Given the description of an element on the screen output the (x, y) to click on. 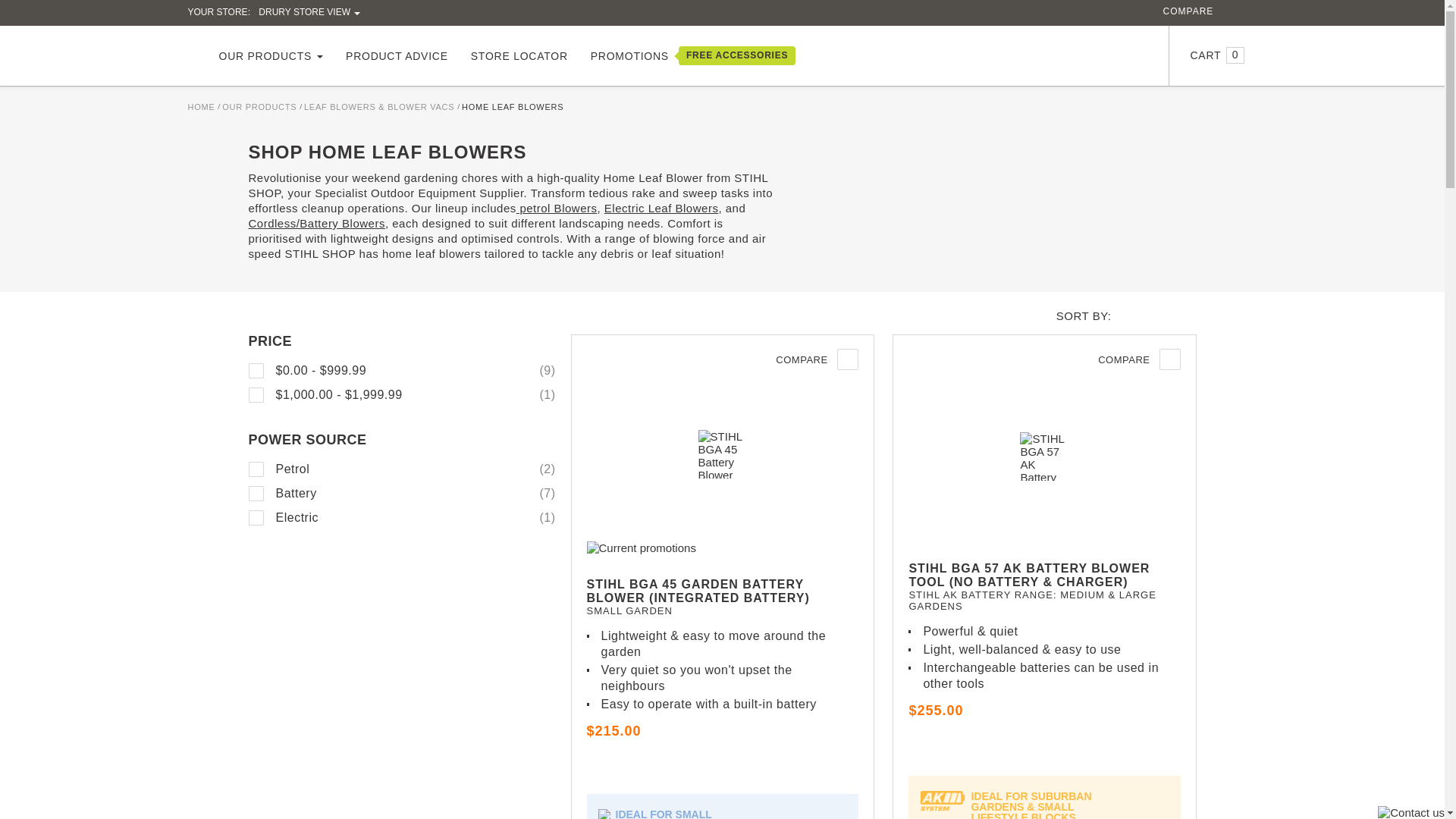
on (255, 394)
on (255, 370)
on (255, 517)
COMPARE (1188, 10)
on (255, 493)
Compare Products (1188, 10)
OUR PRODUCTS (270, 55)
on (255, 468)
